Given the description of an element on the screen output the (x, y) to click on. 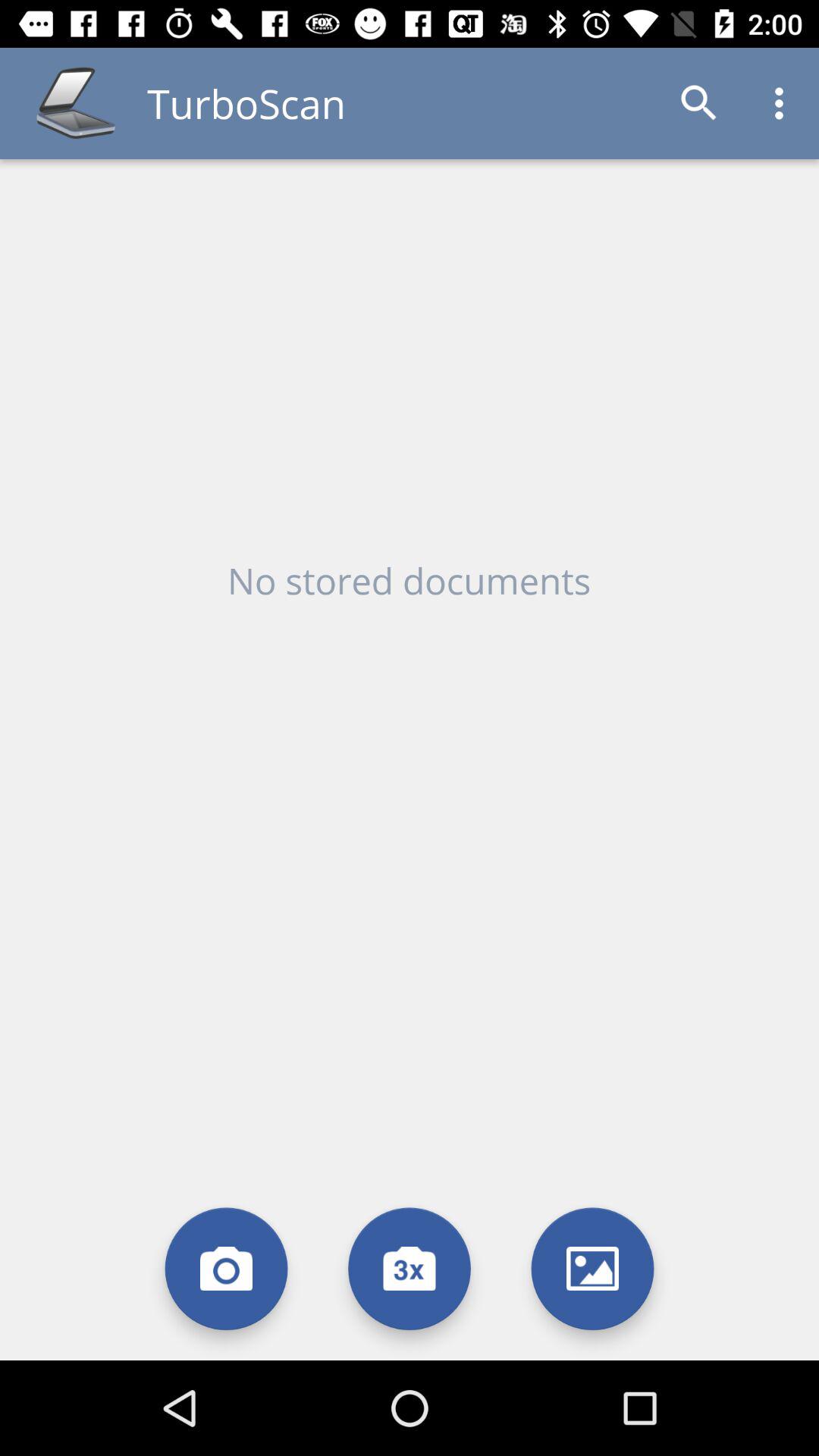
press icon below the no stored documents item (225, 1268)
